Given the description of an element on the screen output the (x, y) to click on. 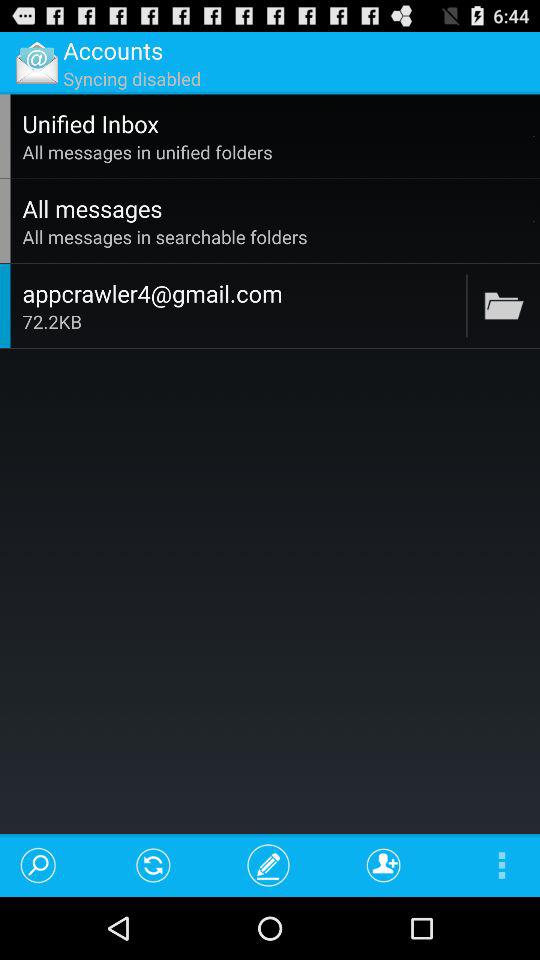
turn off the item below 72.2kb item (268, 864)
